Given the description of an element on the screen output the (x, y) to click on. 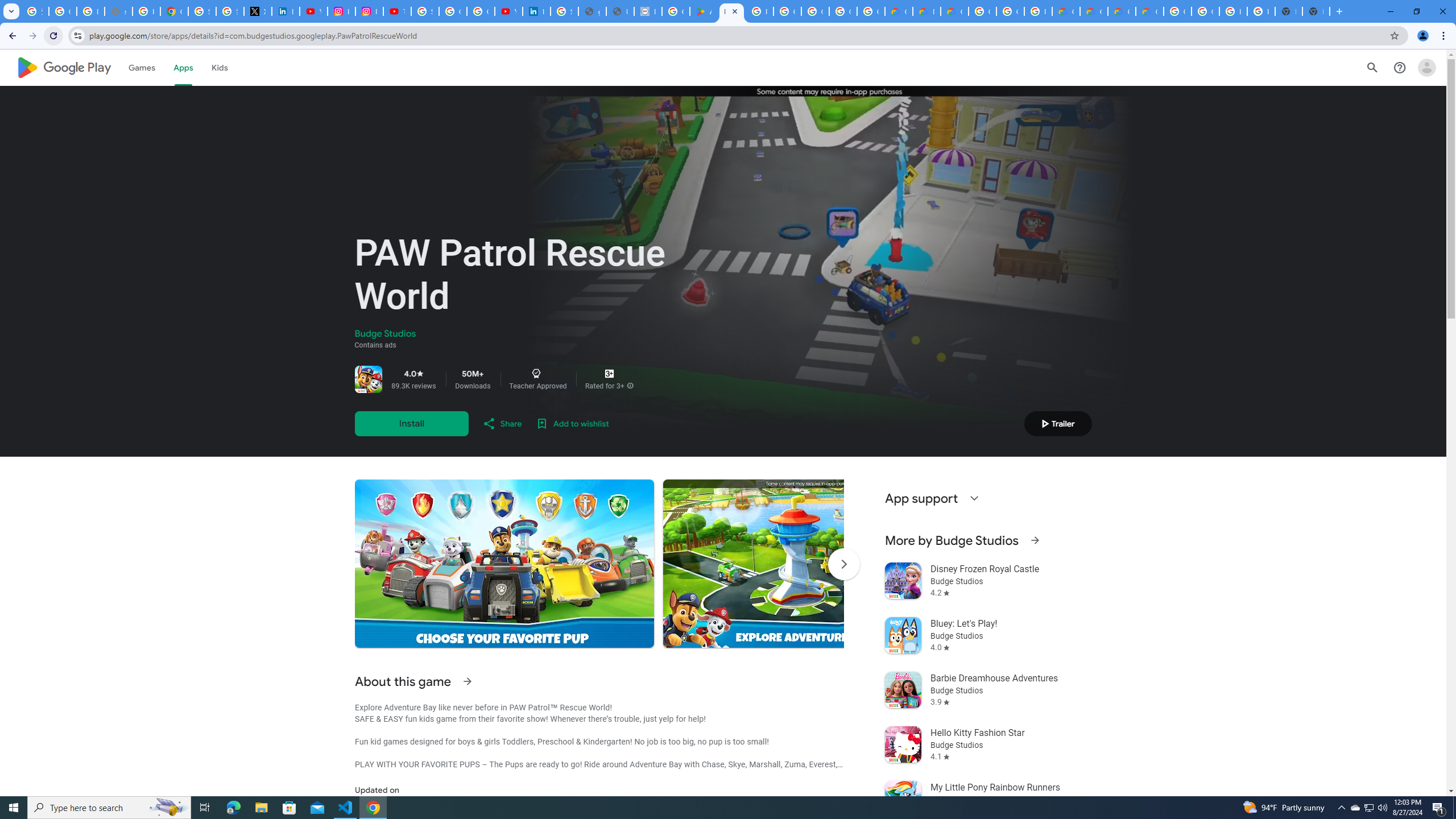
Gemini for Business and Developers | Google Cloud (955, 11)
Google Workspace - Specific Terms (842, 11)
Sign in - Google Accounts (564, 11)
See more information on About this game (466, 681)
Kids (219, 67)
Google Cloud Platform (1010, 11)
More info about this content rating (630, 385)
New Tab (1316, 11)
Help Center (1399, 67)
Budge Studios (384, 333)
